Given the description of an element on the screen output the (x, y) to click on. 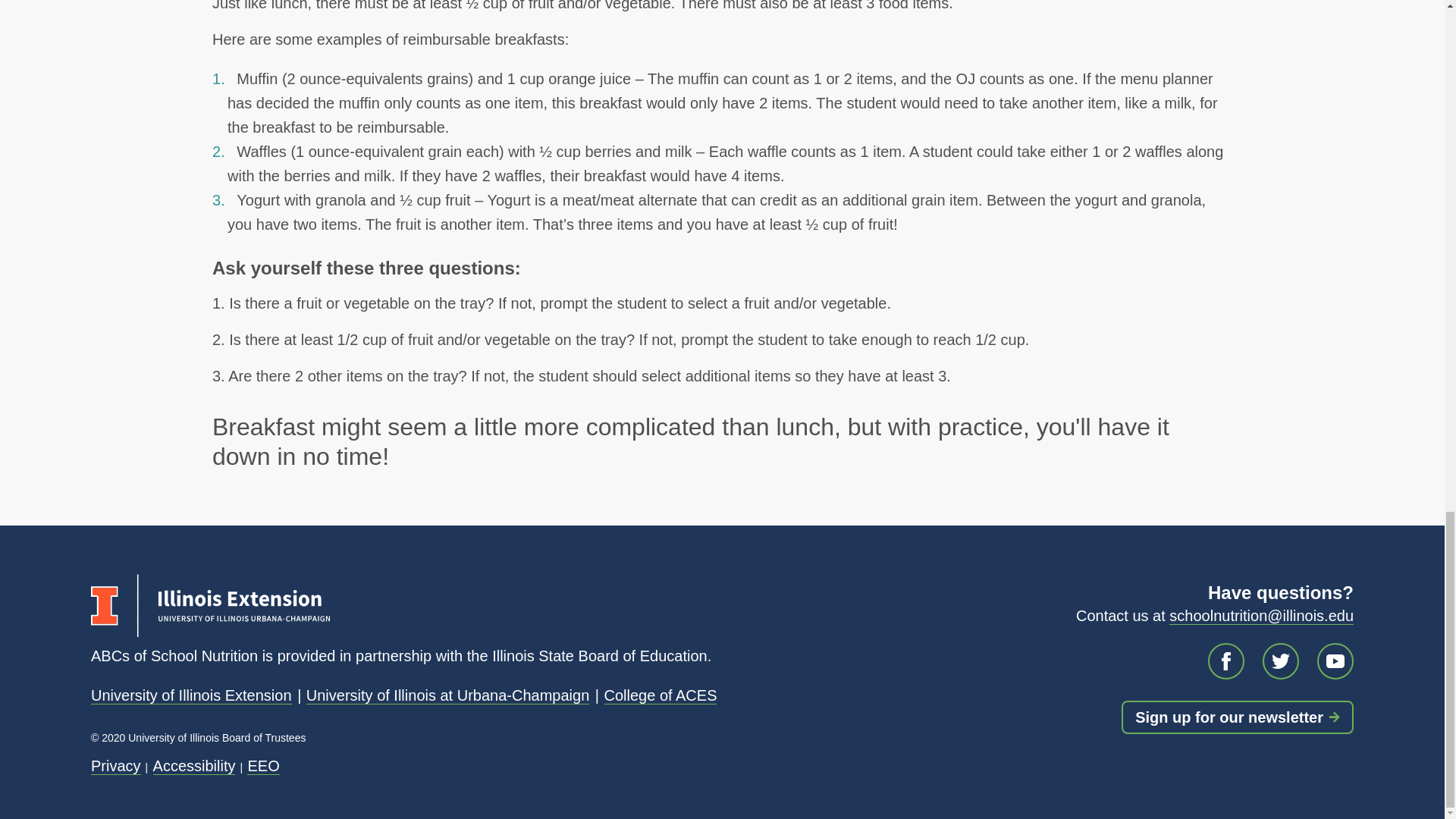
University of Illinois at Urbana-Champaign (447, 695)
University of Illinois Extension (191, 695)
Privacy (115, 765)
Sign up for our newsletter (1237, 717)
College of ACES (660, 695)
EEO (263, 765)
Accessibility (193, 765)
